Given the description of an element on the screen output the (x, y) to click on. 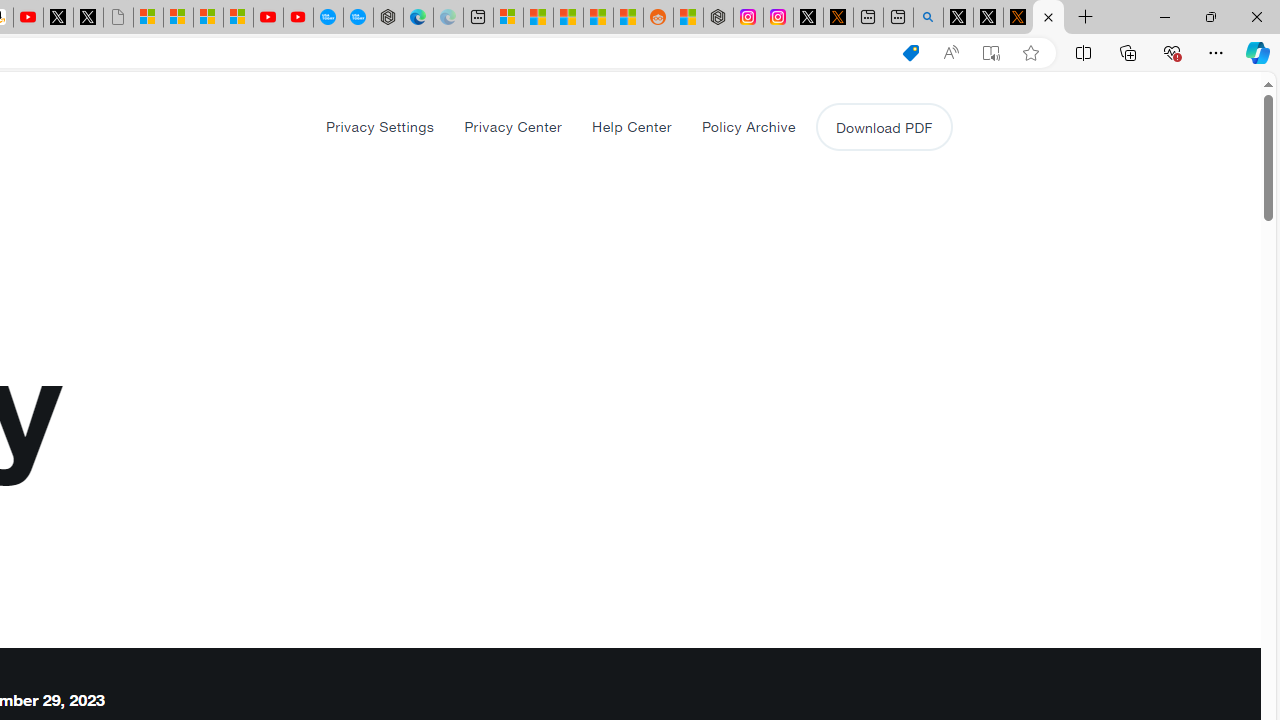
Shanghai, China Weather trends | Microsoft Weather (628, 17)
Profile / X (957, 17)
Log in to X / X (808, 17)
Browser essentials (1171, 52)
The most popular Google 'how to' searches (358, 17)
Nordace - Nordace has arrived Hong Kong (388, 17)
Minimize (1164, 16)
Help Center (631, 126)
Collections (1128, 52)
Split screen (1083, 52)
github - Search (928, 17)
Microsoft account | Microsoft Account Privacy Settings (508, 17)
help.x.com | 524: A timeout occurred (838, 17)
Shanghai, China weather forecast | Microsoft Weather (537, 17)
Shopping in Microsoft Edge (910, 53)
